Given the description of an element on the screen output the (x, y) to click on. 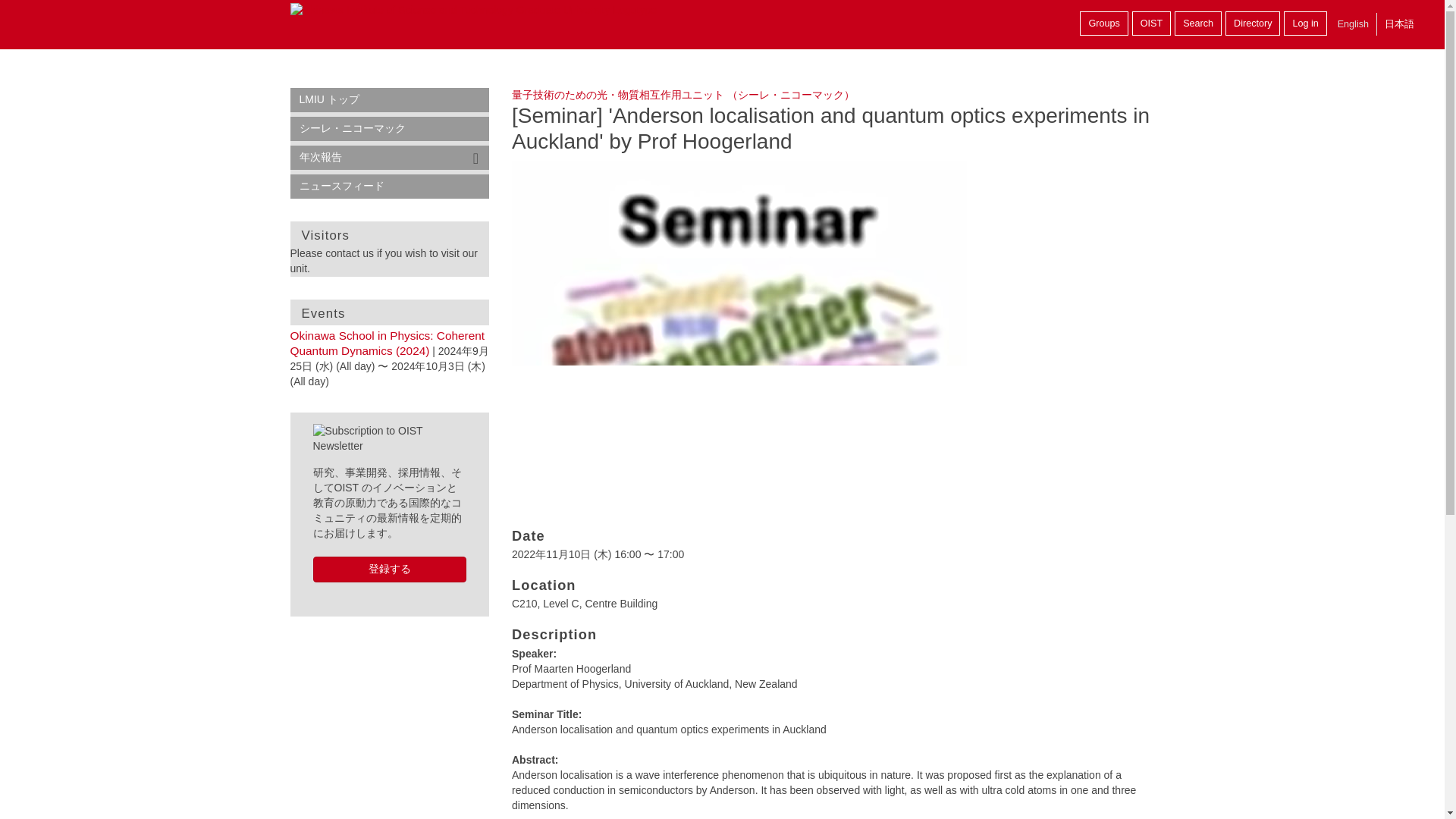
Search (1197, 23)
Groups (1103, 23)
Subscription to OIST Newsletter (389, 439)
English (1352, 24)
Directory (1252, 23)
Log in (1305, 23)
OIST (1151, 23)
